Given the description of an element on the screen output the (x, y) to click on. 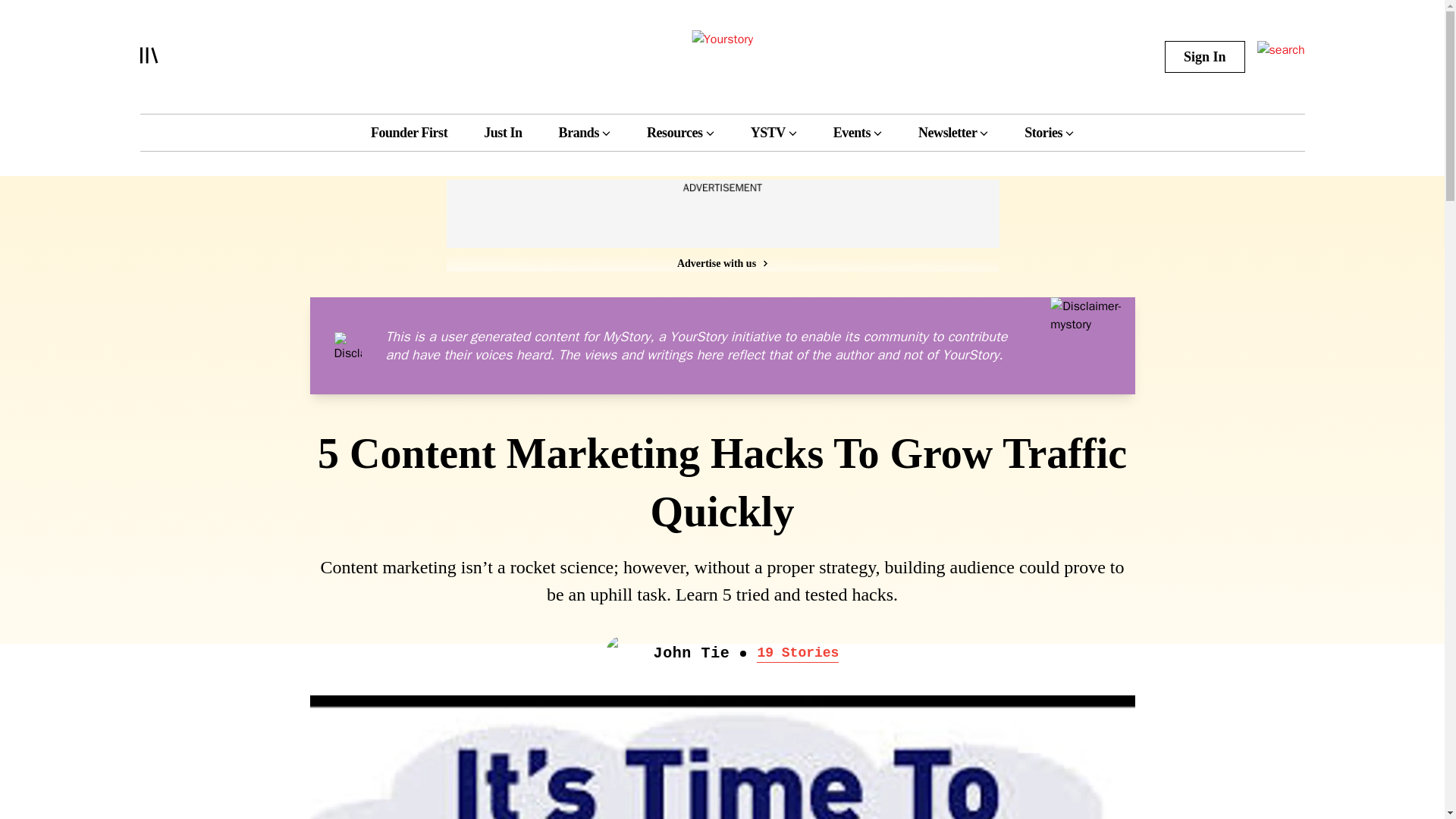
Founder First (408, 132)
19 Stories (797, 653)
John Tie (691, 653)
Just In (502, 132)
Advertise with us (721, 263)
